Given the description of an element on the screen output the (x, y) to click on. 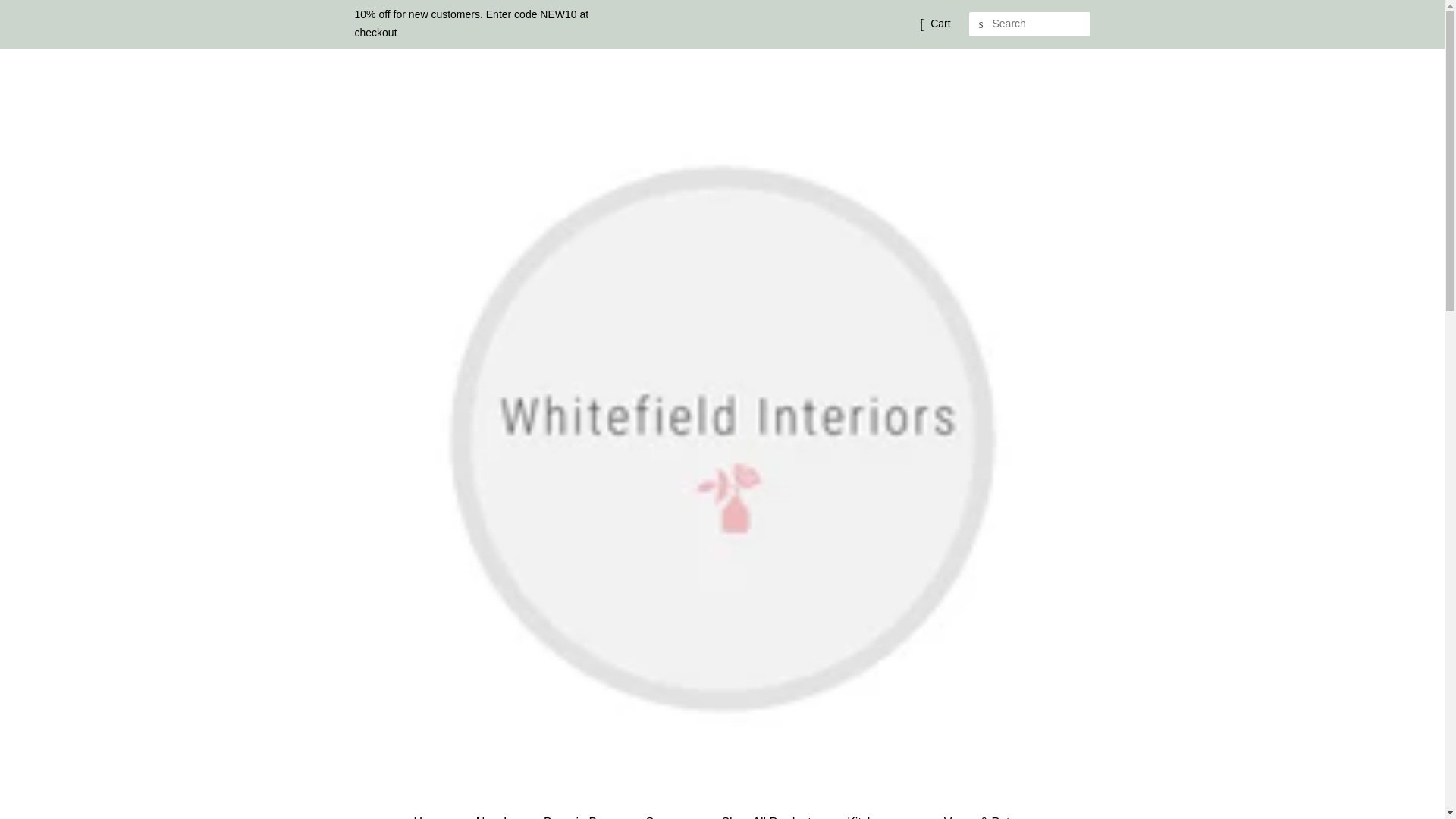
Search (980, 24)
Summer (669, 812)
Shop All Products (770, 812)
Cart (940, 24)
Home (437, 812)
Bargain Buys (581, 812)
New In (496, 812)
Kitchenware (881, 812)
